Given the description of an element on the screen output the (x, y) to click on. 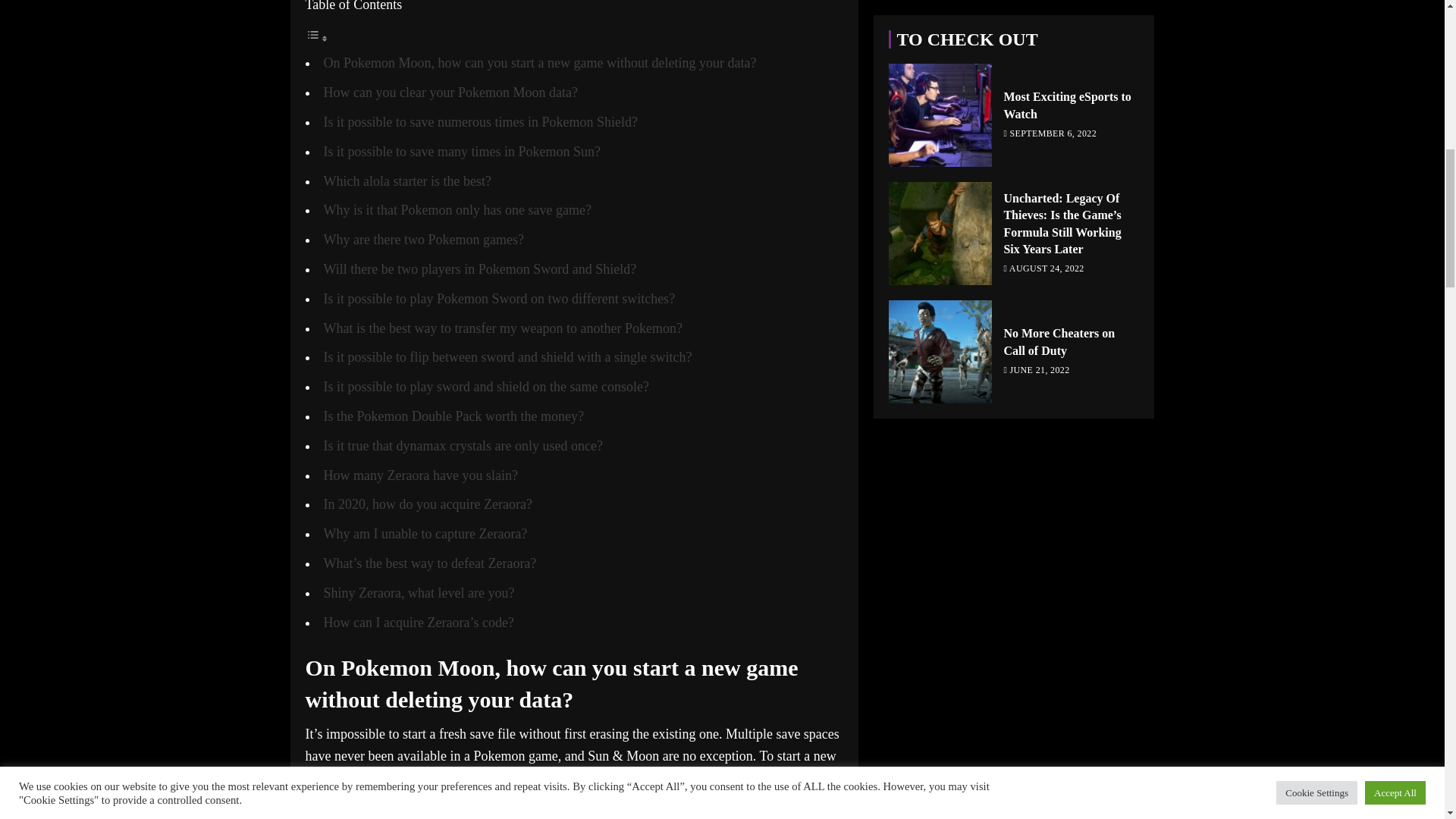
Will there be two players in Pokemon Sword and Shield? (479, 268)
Which alola starter is the best? (406, 181)
Is it possible to play sword and shield on the same console? (485, 386)
Will there be two players in Pokemon Sword and Shield? (479, 268)
How can you clear your Pokemon Moon data? (449, 92)
Is it possible to save numerous times in Pokemon Shield? (480, 121)
Why am I unable to capture Zeraora? (425, 533)
Why are there two Pokemon games? (422, 239)
Is it possible to save many times in Pokemon Sun? (461, 151)
